Given the description of an element on the screen output the (x, y) to click on. 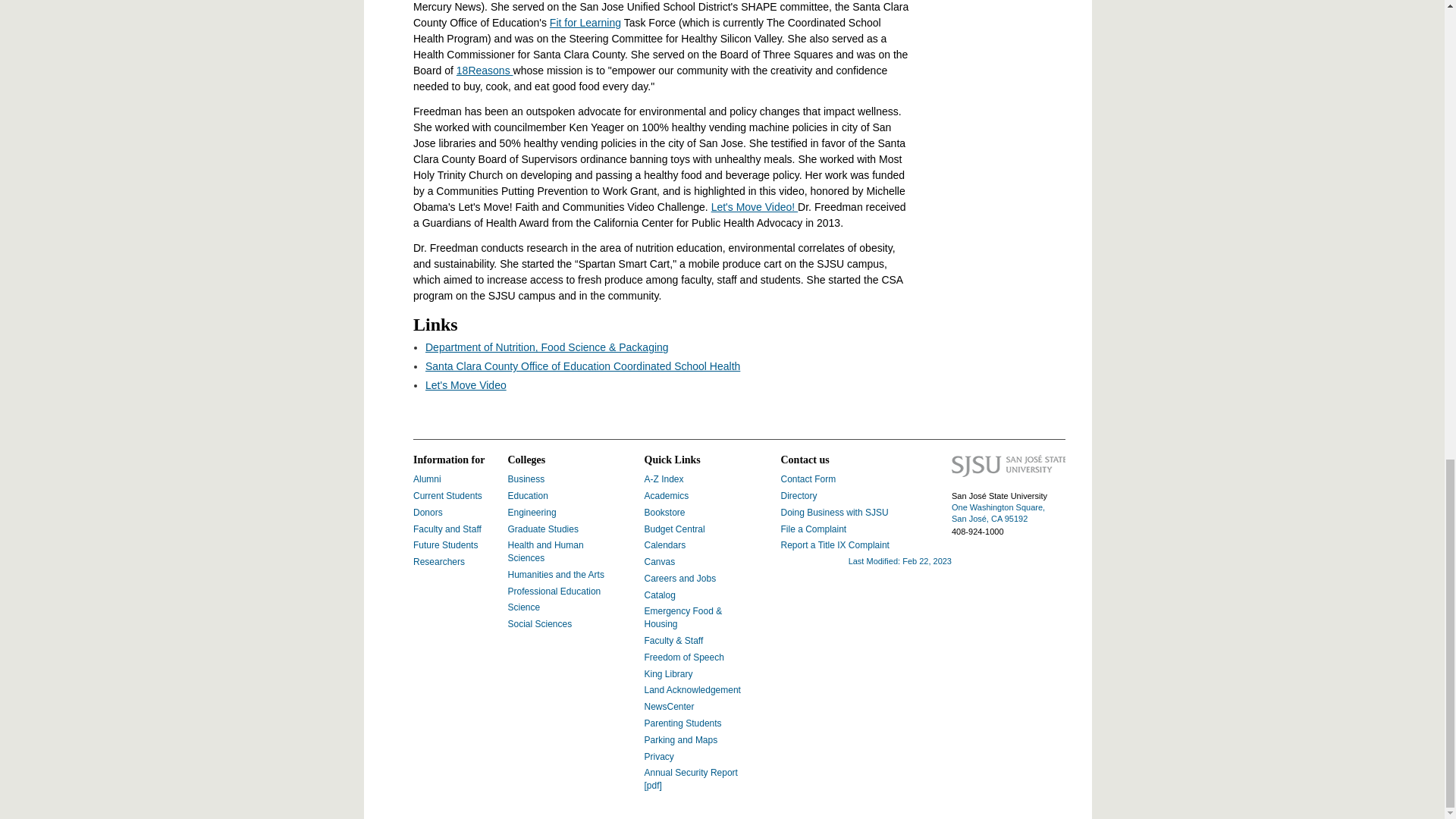
Let's Move Video (465, 385)
18Reasons (485, 70)
Fit for Learning (585, 22)
Let's Move Video! (754, 206)
Let's Move Video (465, 385)
Alumni (427, 479)
Current Students (447, 495)
Future Students (445, 544)
Faculty and Staff (447, 528)
